Given the description of an element on the screen output the (x, y) to click on. 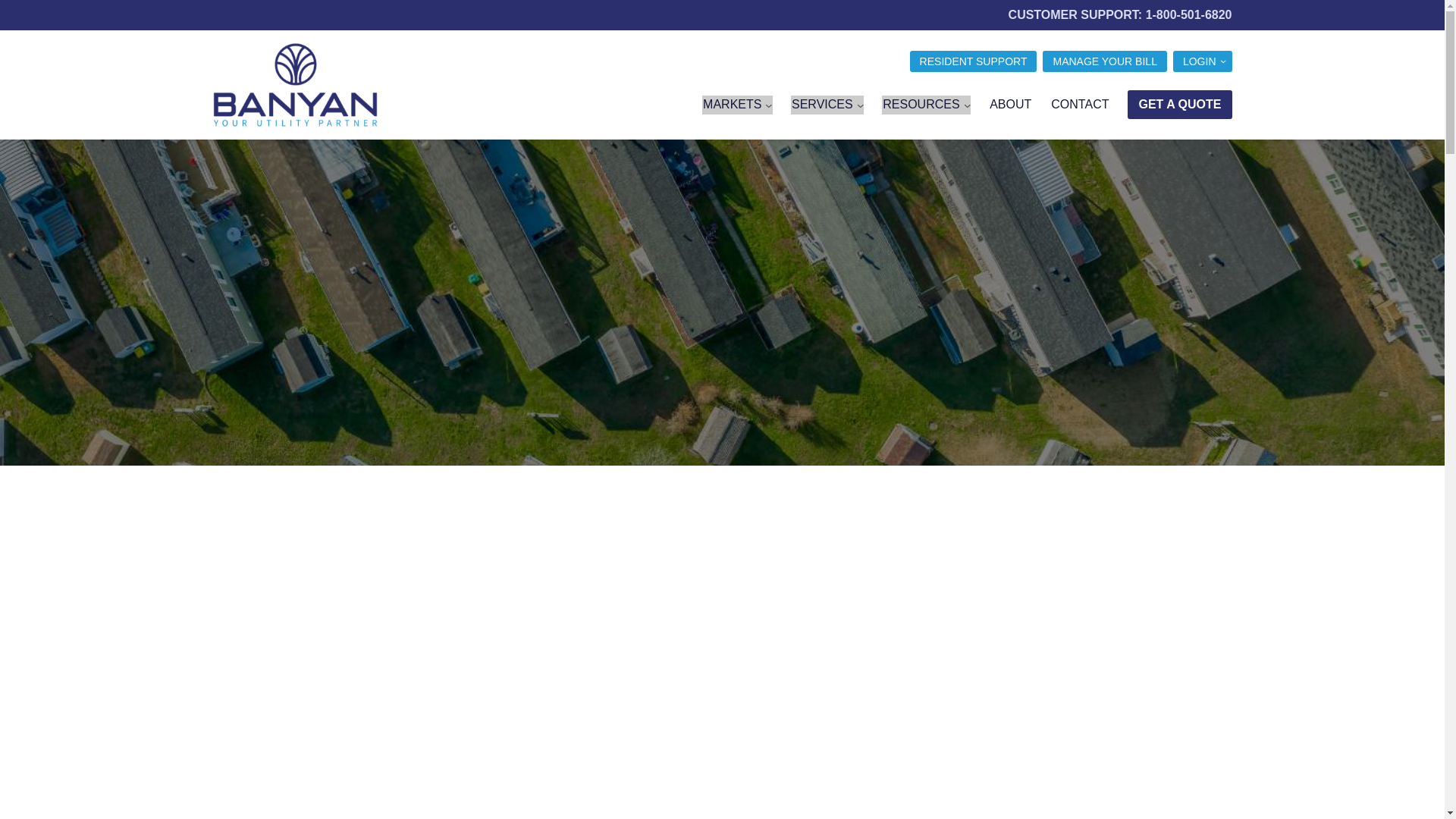
LOGIN (1202, 61)
MARKETS (737, 104)
RESIDENT SUPPORT (973, 61)
RESOURCES (926, 104)
SERVICES (826, 104)
MANAGE YOUR BILL (1104, 61)
CUSTOMER SUPPORT: 1-800-501-6820 (1120, 14)
